Given the description of an element on the screen output the (x, y) to click on. 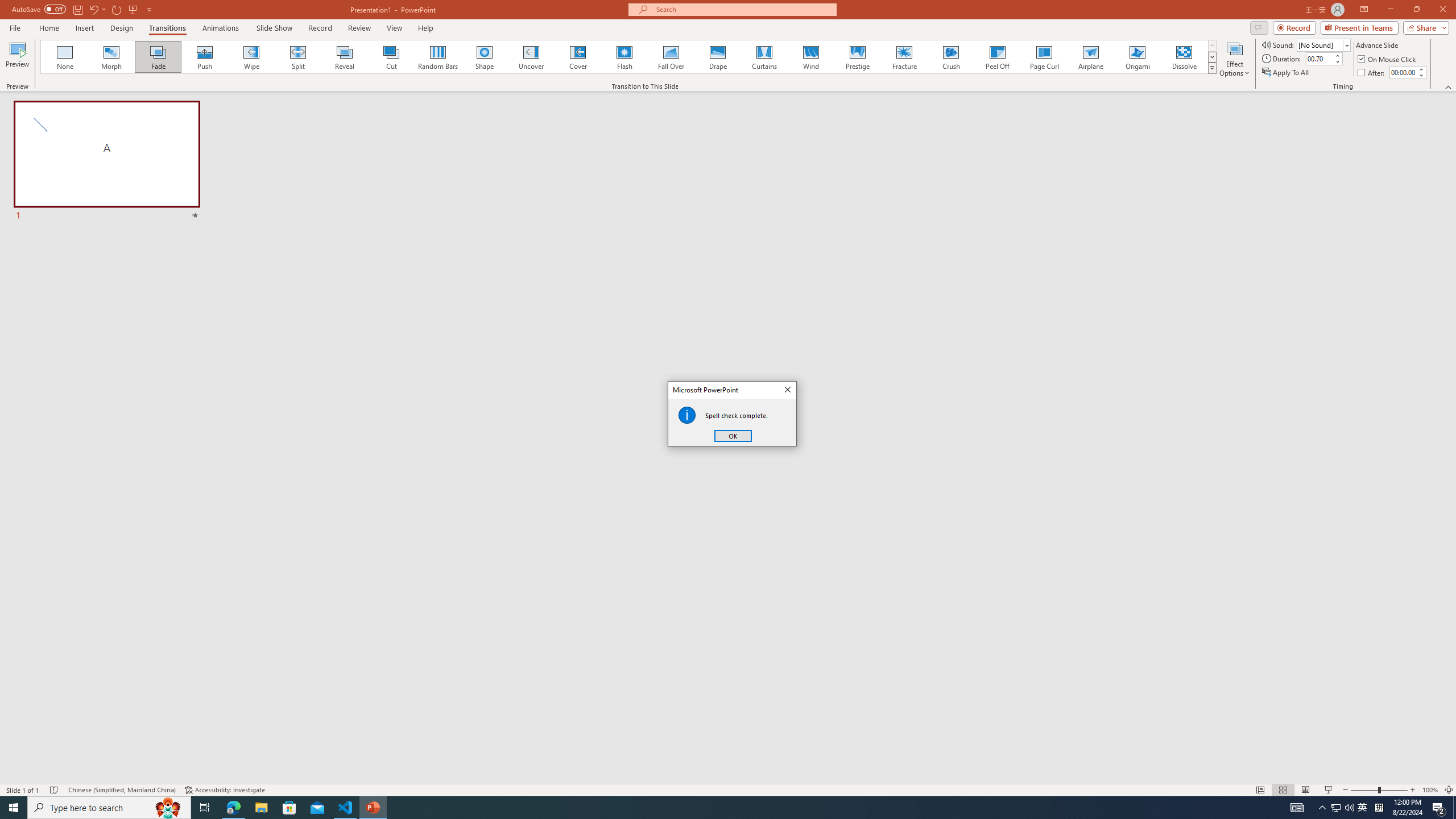
Drape (717, 56)
Flash (624, 56)
Zoom 100% (1430, 790)
